Given the description of an element on the screen output the (x, y) to click on. 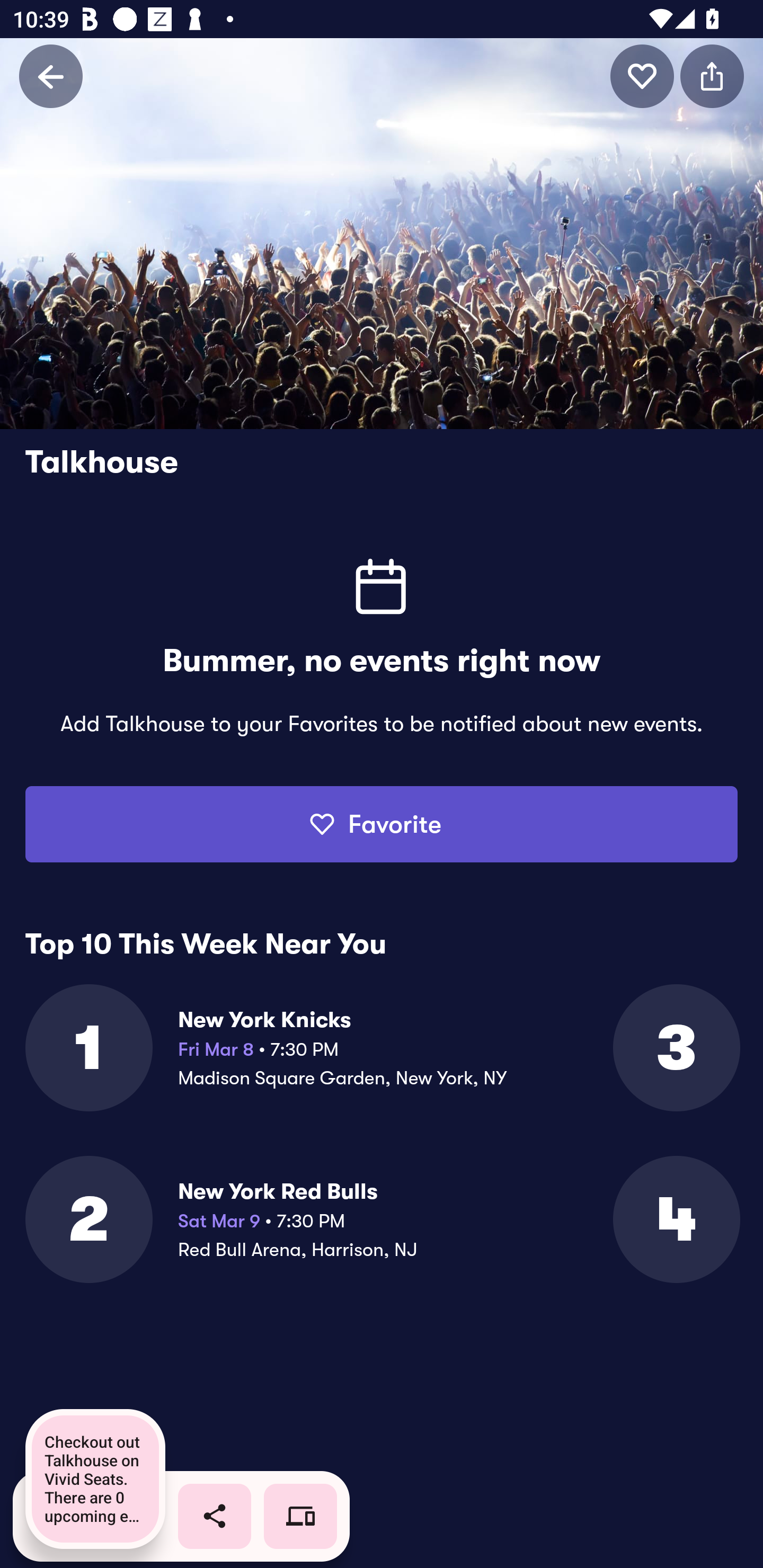
Back (50, 75)
icon button (641, 75)
icon button (711, 75)
Favorite (381, 823)
3 (675, 1047)
4 (675, 1218)
